Given the description of an element on the screen output the (x, y) to click on. 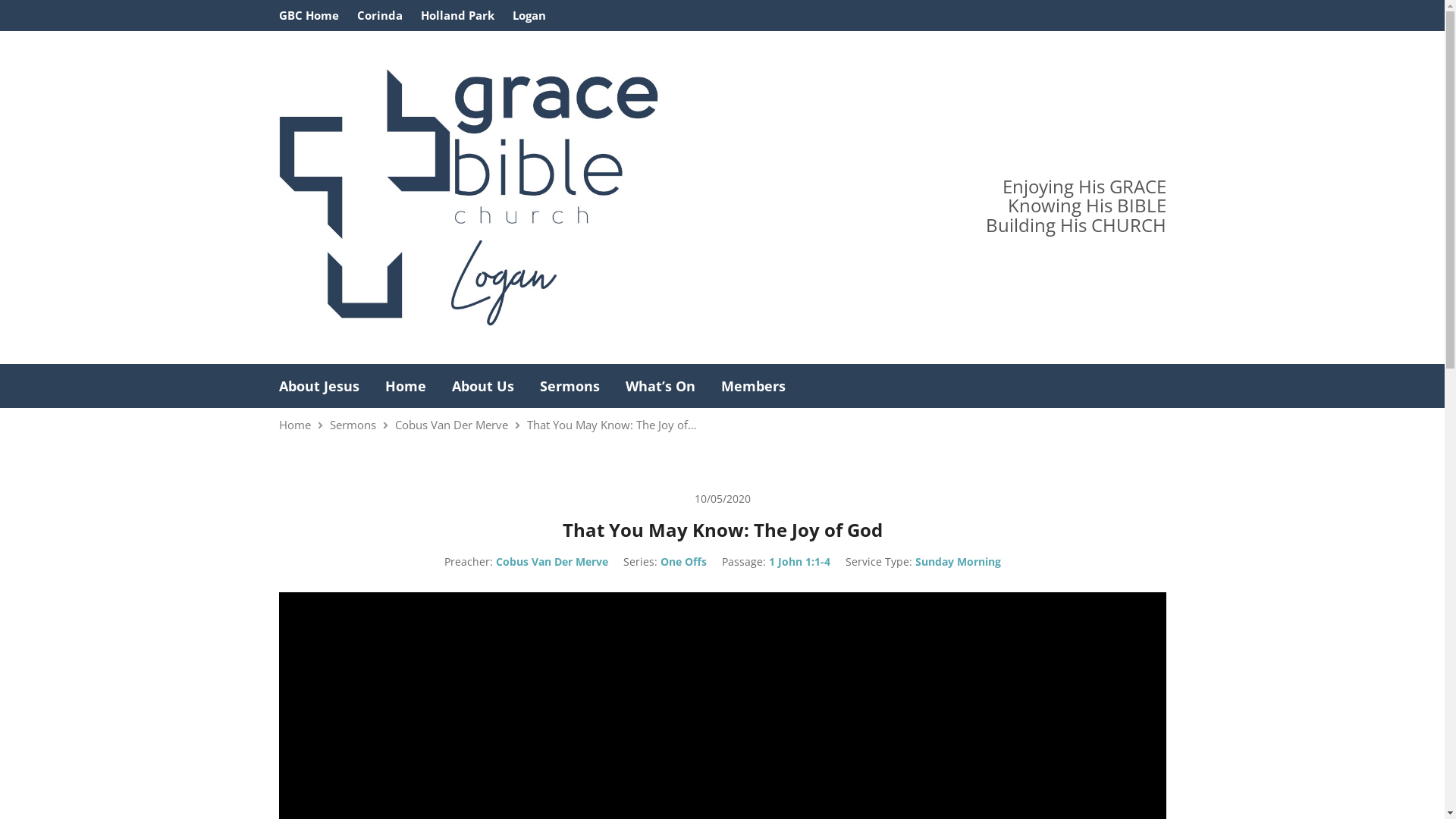
Members Element type: text (752, 385)
Corinda Element type: text (378, 14)
GBC Home Element type: text (308, 14)
Sunday Morning Element type: text (957, 561)
About Us Element type: text (482, 385)
About Jesus Element type: text (319, 385)
Home Element type: text (405, 385)
Logan Element type: text (529, 14)
Cobus Van Der Merve Element type: text (450, 424)
Sermons Element type: text (569, 385)
Home Element type: text (294, 424)
Sermons Element type: text (352, 424)
Holland Park Element type: text (456, 14)
1 John 1:1-4 Element type: text (799, 561)
One Offs Element type: text (682, 561)
Cobus Van Der Merve Element type: text (551, 561)
